Given the description of an element on the screen output the (x, y) to click on. 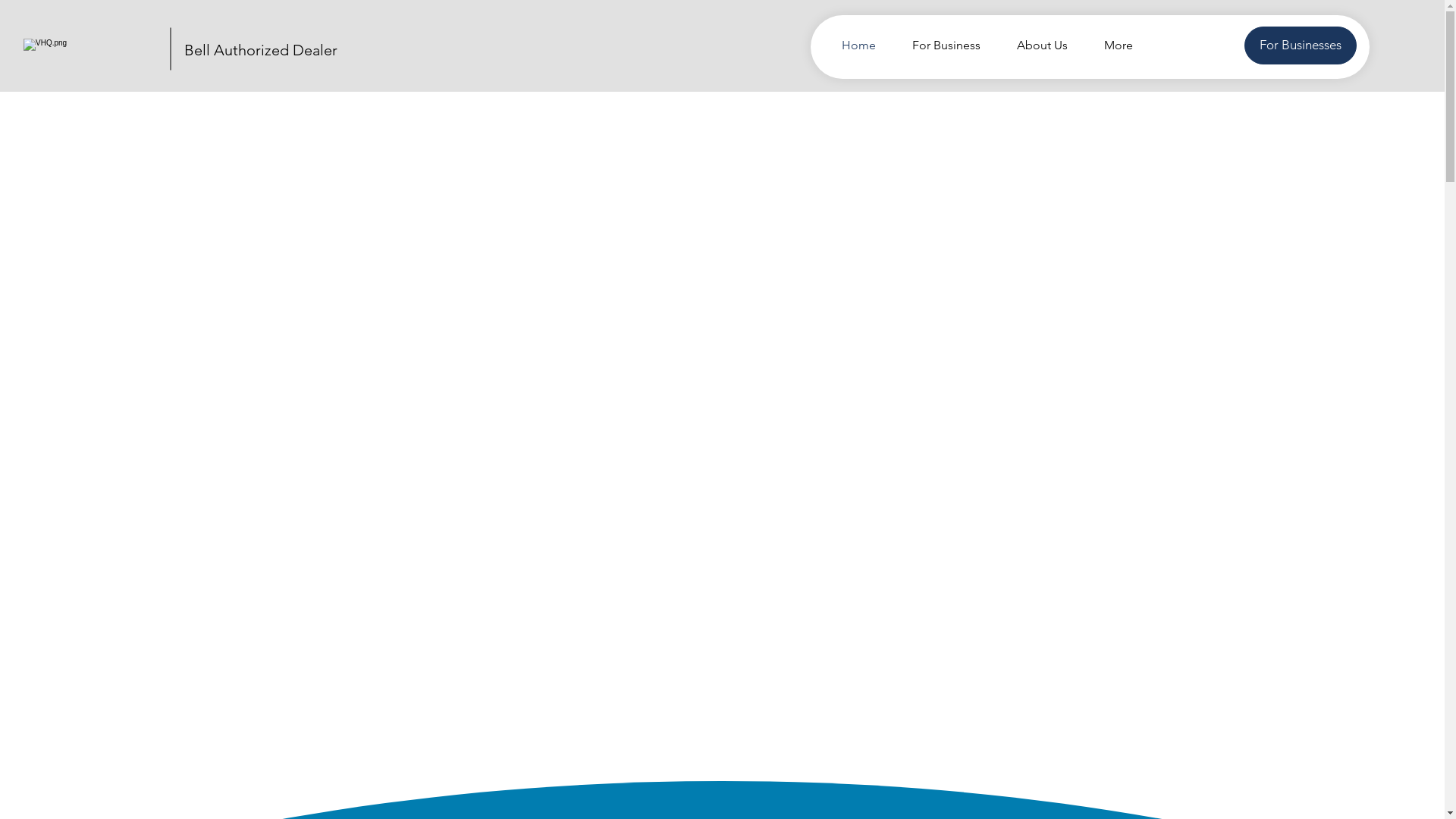
Home Element type: text (851, 44)
For Businesses Element type: text (1300, 45)
About Us Element type: text (1035, 44)
For Business Element type: text (939, 44)
